Given the description of an element on the screen output the (x, y) to click on. 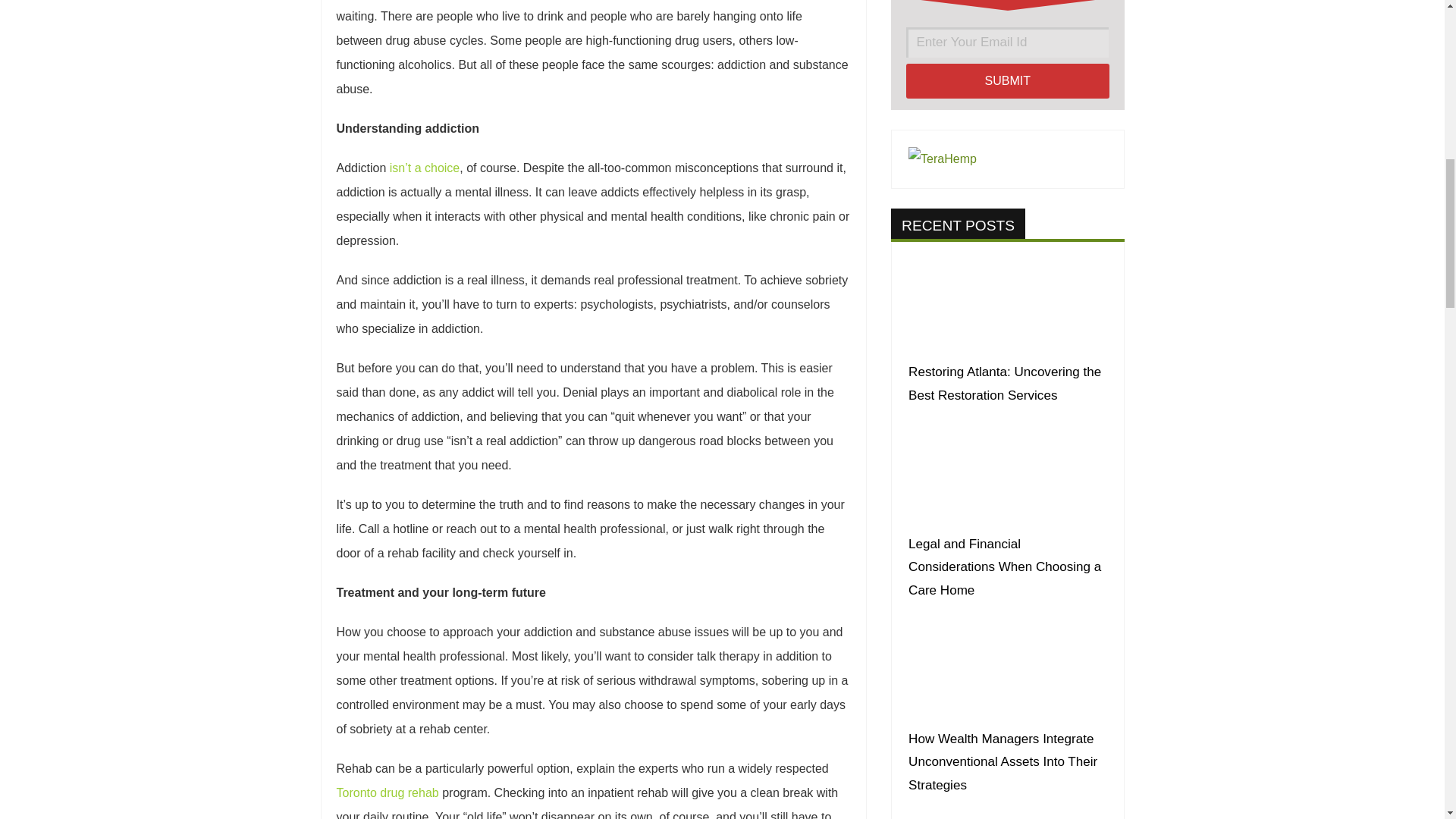
TeraHemp (942, 158)
Submit (1007, 80)
Toronto drug rehab (387, 792)
